Given the description of an element on the screen output the (x, y) to click on. 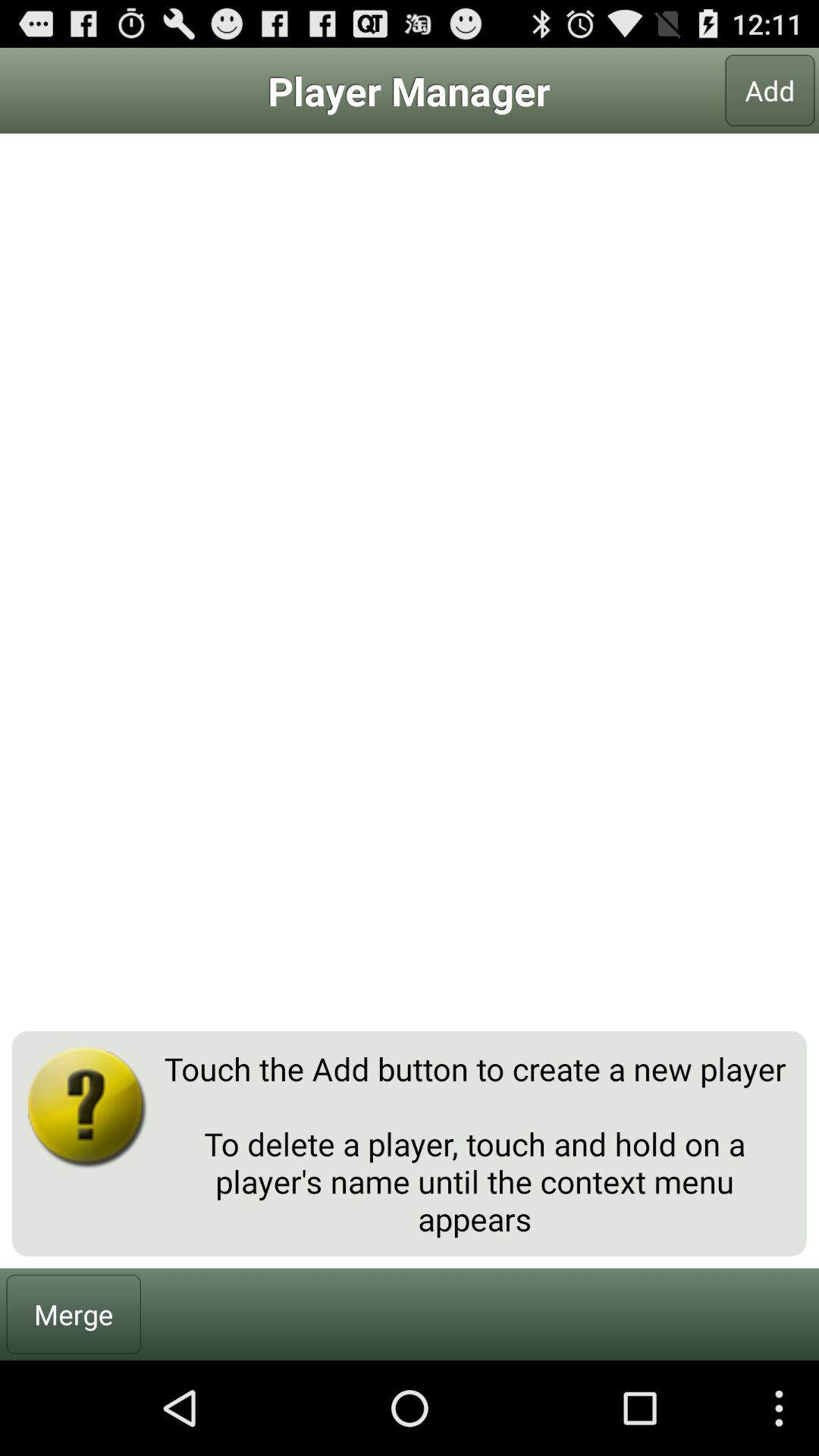
jump to the merge (73, 1314)
